Given the description of an element on the screen output the (x, y) to click on. 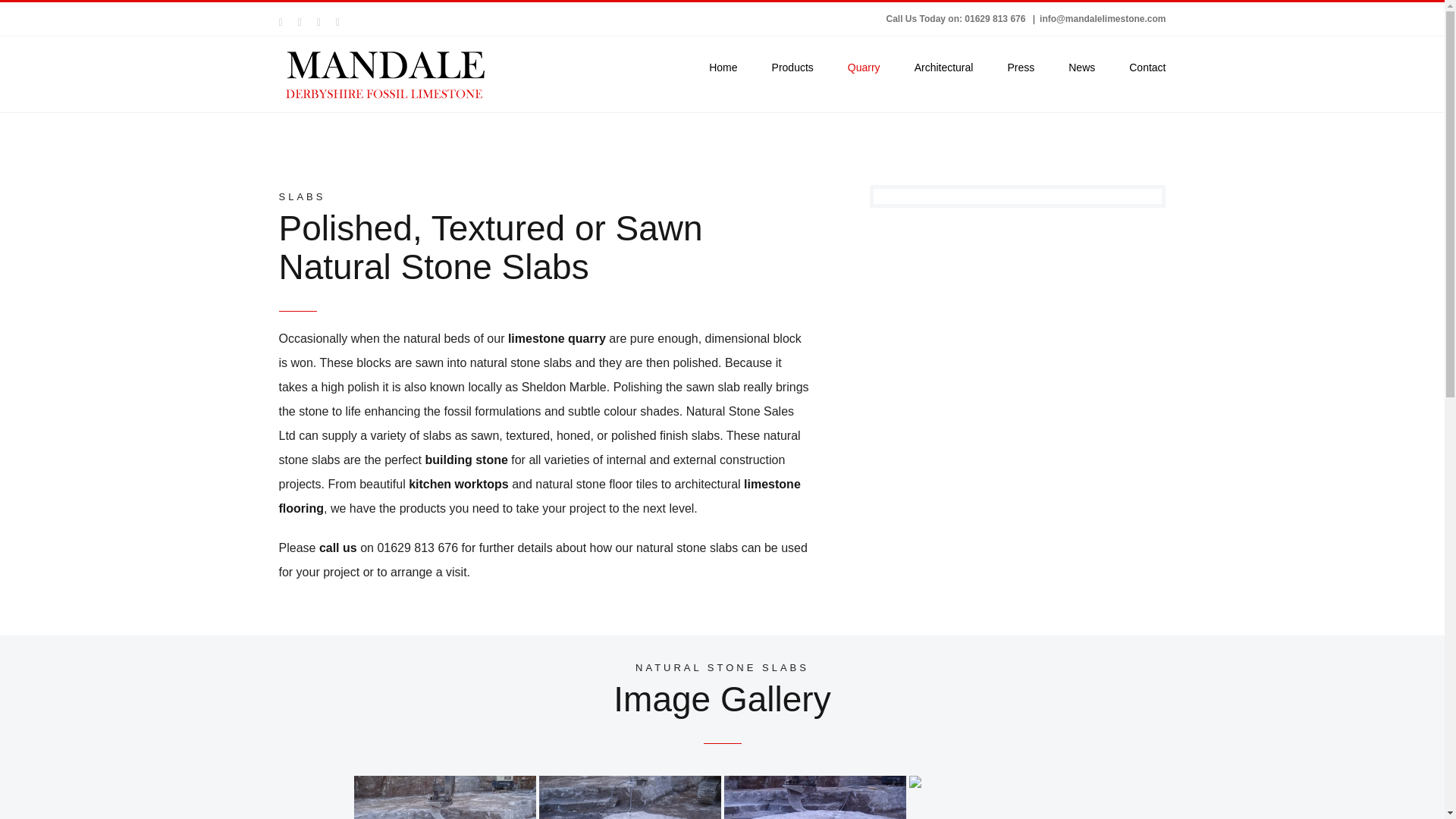
Triming Block (814, 797)
call us (337, 547)
building stone (465, 459)
Blocks on stock (999, 797)
kitchen worktops (458, 483)
limestone flooring (539, 496)
Getting Block (444, 797)
limestone quarry (556, 338)
Architectural (944, 67)
Triming Block (629, 797)
